Given the description of an element on the screen output the (x, y) to click on. 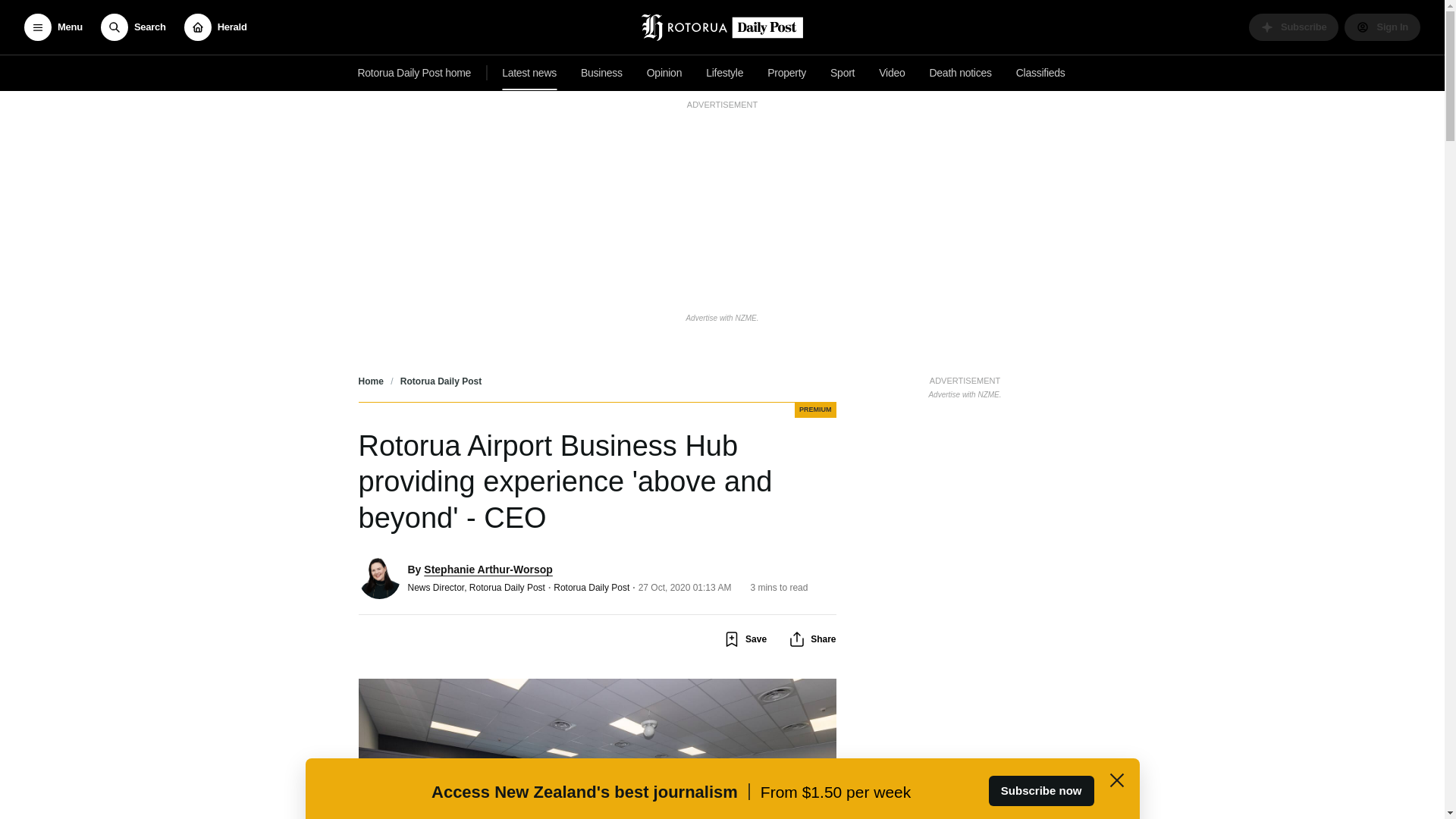
Search (132, 26)
Death notices (960, 72)
Rotorua Daily Post home (413, 72)
Video (891, 72)
Menu (53, 26)
Sign In (1382, 26)
Opinion (964, 384)
Lifestyle (663, 72)
Subscribe (724, 72)
